Given the description of an element on the screen output the (x, y) to click on. 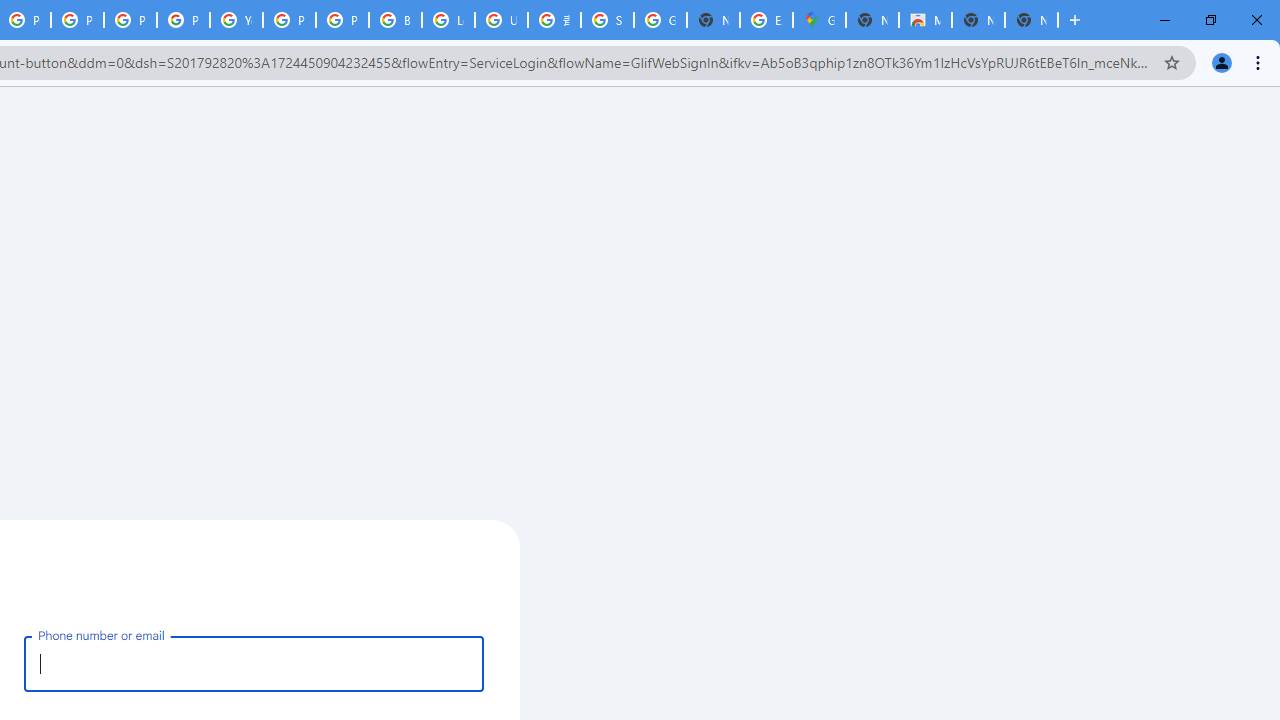
Privacy Help Center - Policies Help (130, 20)
New Tab (1031, 20)
Sign in - Google Accounts (607, 20)
Privacy Help Center - Policies Help (77, 20)
YouTube (235, 20)
